Given the description of an element on the screen output the (x, y) to click on. 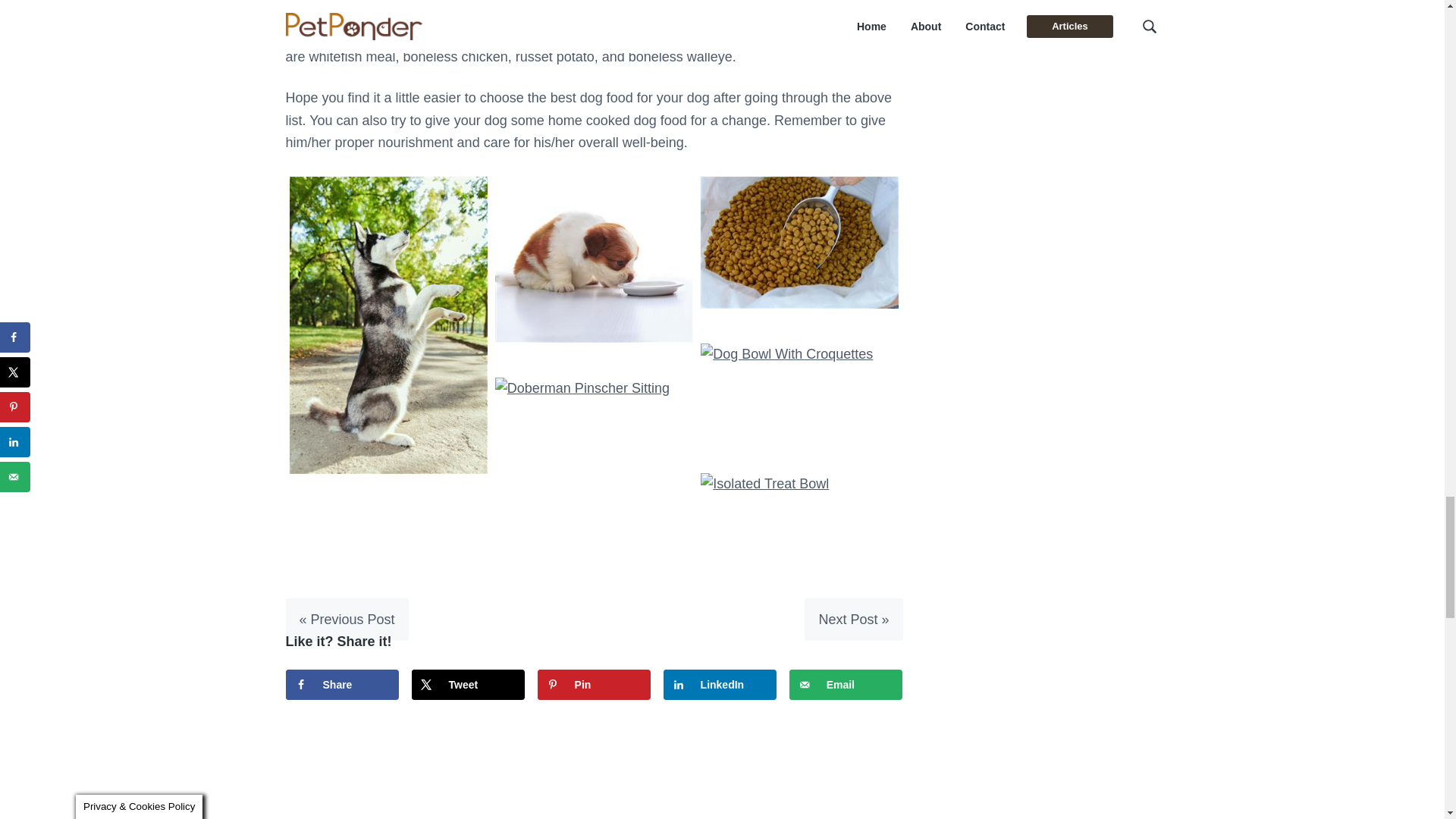
Share on Facebook (341, 684)
Email (845, 684)
LinkedIn (720, 684)
Send over email (845, 684)
Pin (593, 684)
Share on X (468, 684)
Save to Pinterest (593, 684)
Share on LinkedIn (720, 684)
Share (341, 684)
Tweet (468, 684)
